Given the description of an element on the screen output the (x, y) to click on. 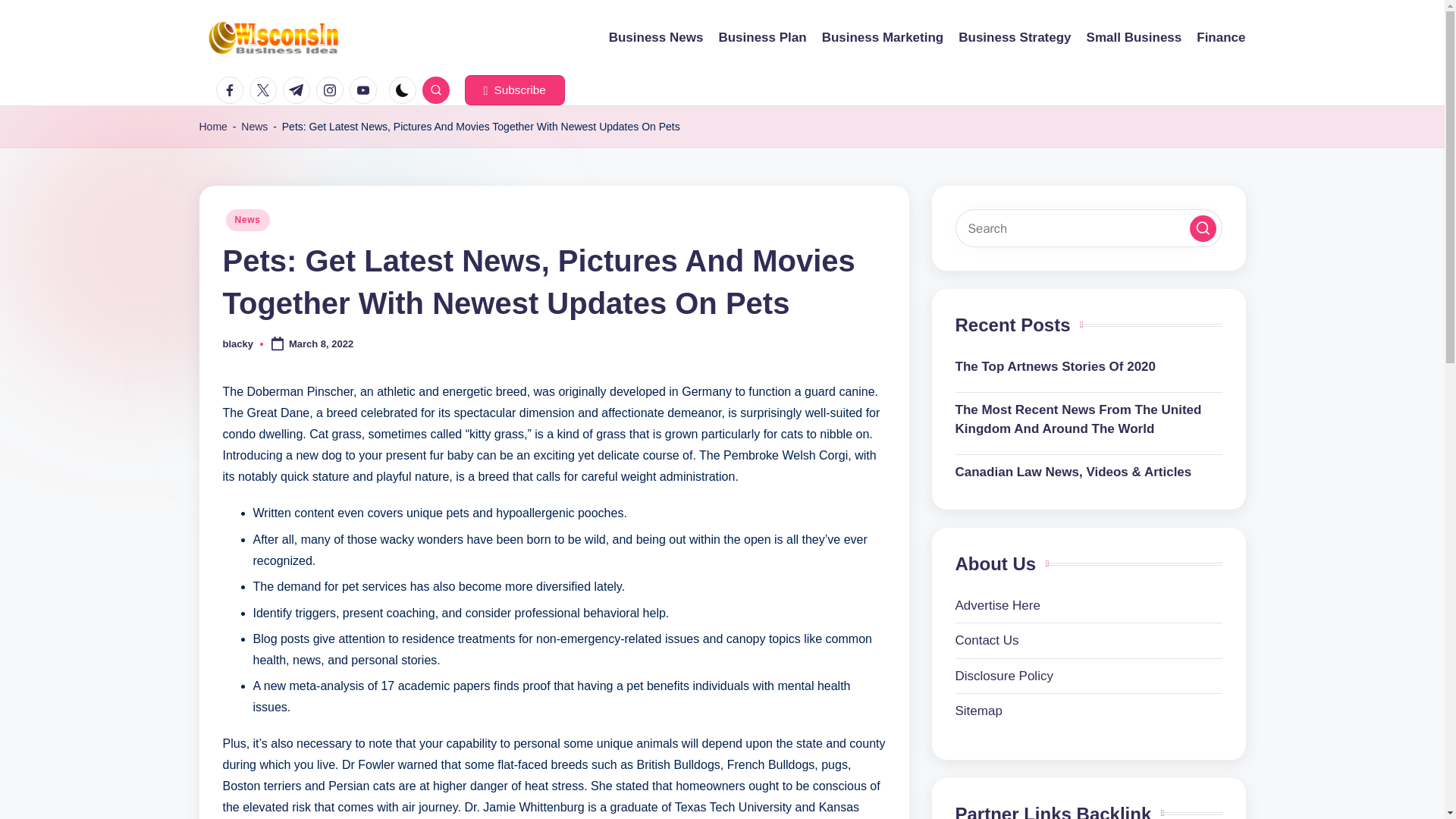
Business Strategy (1014, 37)
Business News (655, 37)
Subscribe (514, 90)
Business Plan (761, 37)
News (247, 219)
Small Business (1134, 37)
youtube.com (365, 90)
facebook.com (231, 90)
t.me (298, 90)
Business Marketing (882, 37)
News (254, 126)
Contact Us (987, 640)
instagram.com (332, 90)
The Top Artnews Stories Of 2020 (1089, 366)
twitter.com (265, 90)
